Given the description of an element on the screen output the (x, y) to click on. 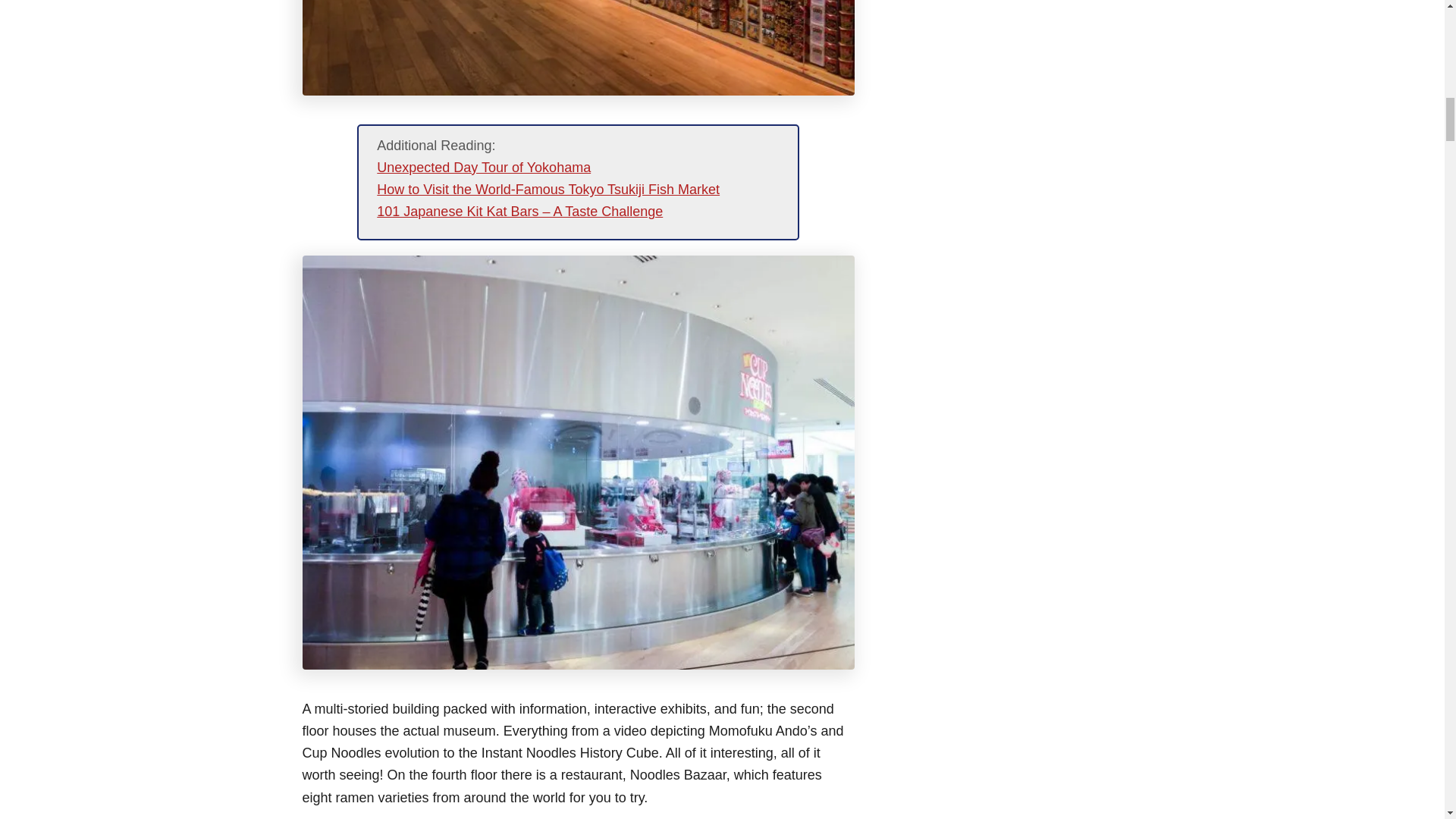
Unexpected Day Tour of Yokohama (484, 167)
How to Visit the World-Famous Tokyo Tsukiji Fish Market (548, 189)
